Given the description of an element on the screen output the (x, y) to click on. 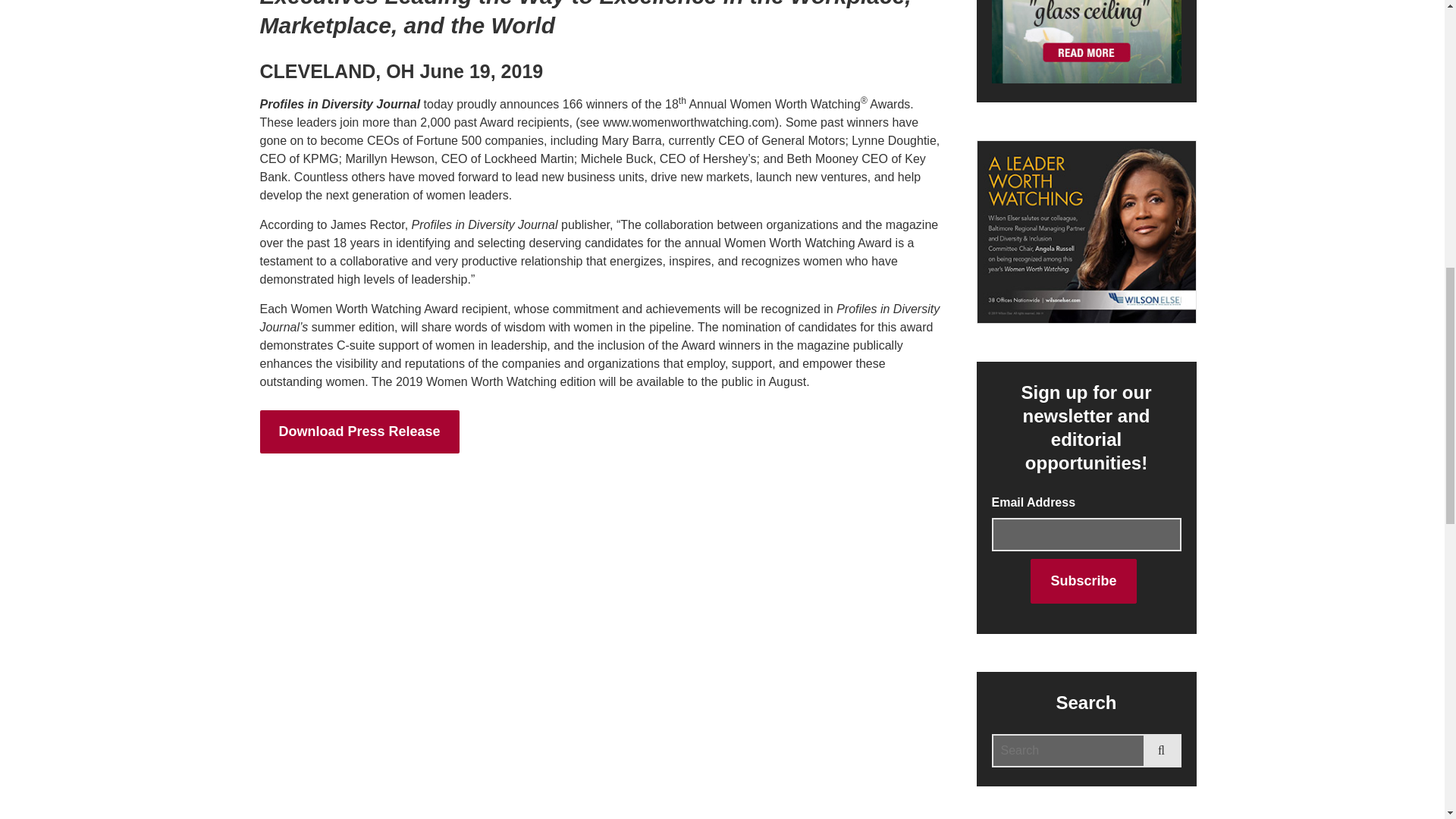
Subscribe (1082, 580)
